Given the description of an element on the screen output the (x, y) to click on. 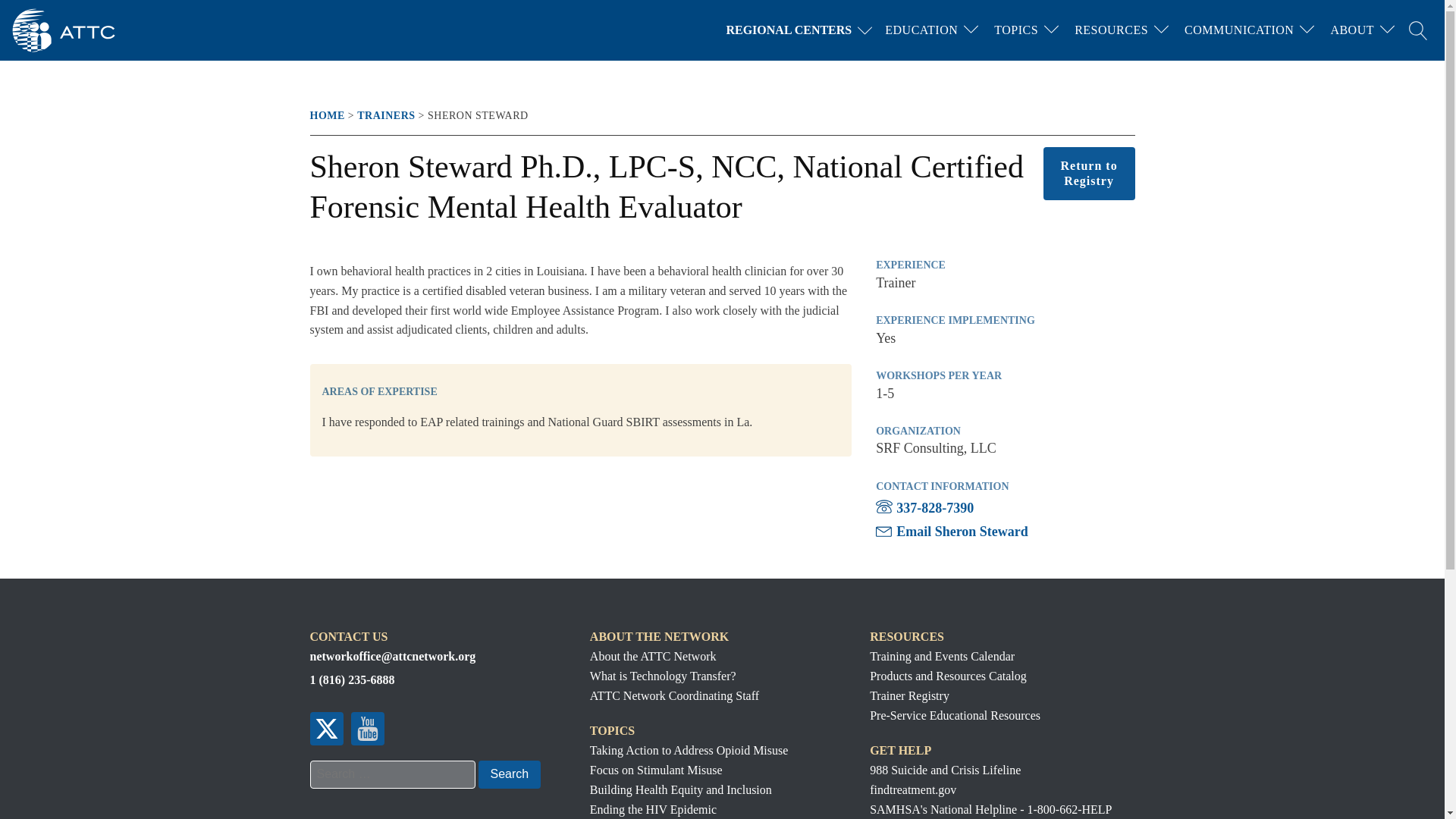
EDUCATION (921, 30)
REGIONAL CENTERS (802, 30)
Search (508, 773)
RESOURCES (1111, 30)
TOPICS (1015, 30)
Search (508, 773)
